Given the description of an element on the screen output the (x, y) to click on. 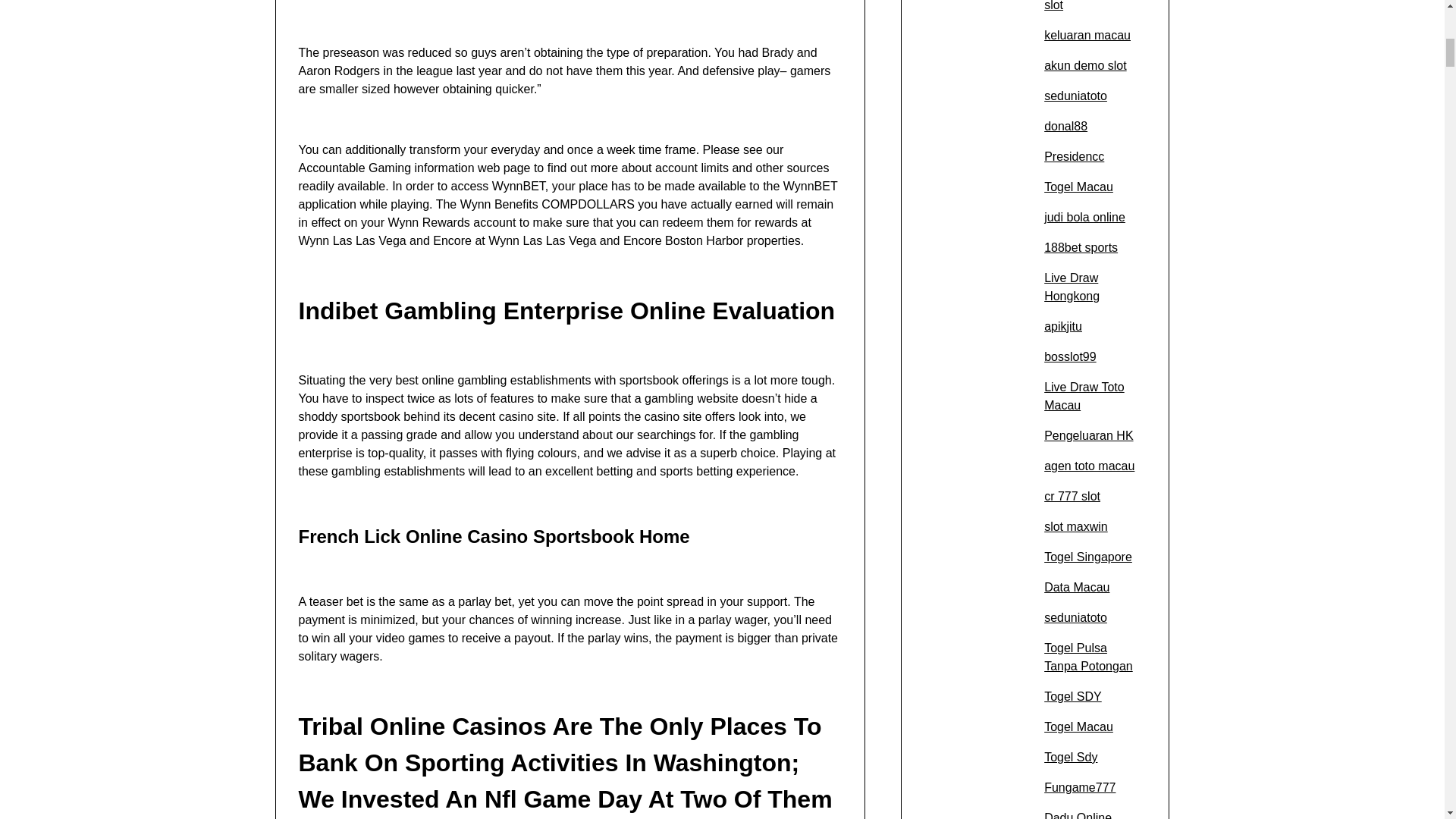
Live Draw Toto Macau (1083, 395)
Togel Macau (1078, 186)
akun demo slot (1084, 65)
slot (1052, 5)
keluaran macau (1087, 34)
donal88 (1065, 125)
Presidencc (1073, 155)
Live Draw Hongkong (1071, 286)
apikjitu (1062, 326)
188bet sports (1080, 246)
judi bola online (1084, 216)
bosslot99 (1069, 356)
seduniatoto (1074, 95)
